Given the description of an element on the screen output the (x, y) to click on. 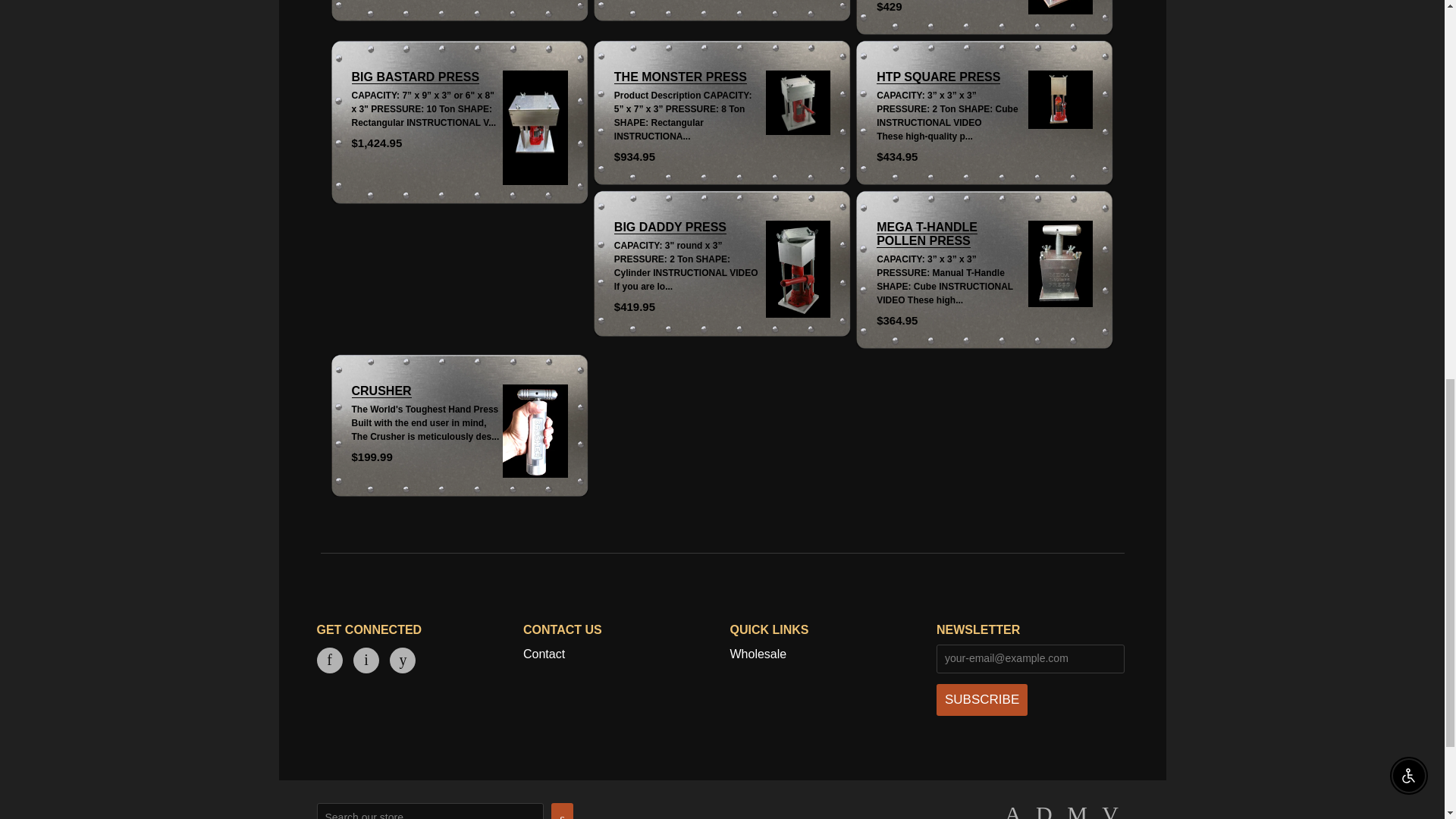
Contact (543, 653)
Instagram (365, 660)
YouTube (402, 660)
High Tech Pipes on YouTube (402, 660)
Subscribe (981, 699)
Subscribe (981, 699)
Facebook (329, 660)
High Tech Pipes on Instagram (365, 660)
Wholesale (757, 653)
High Tech Pipes on Facebook (329, 660)
SEARCH (562, 811)
